Given the description of an element on the screen output the (x, y) to click on. 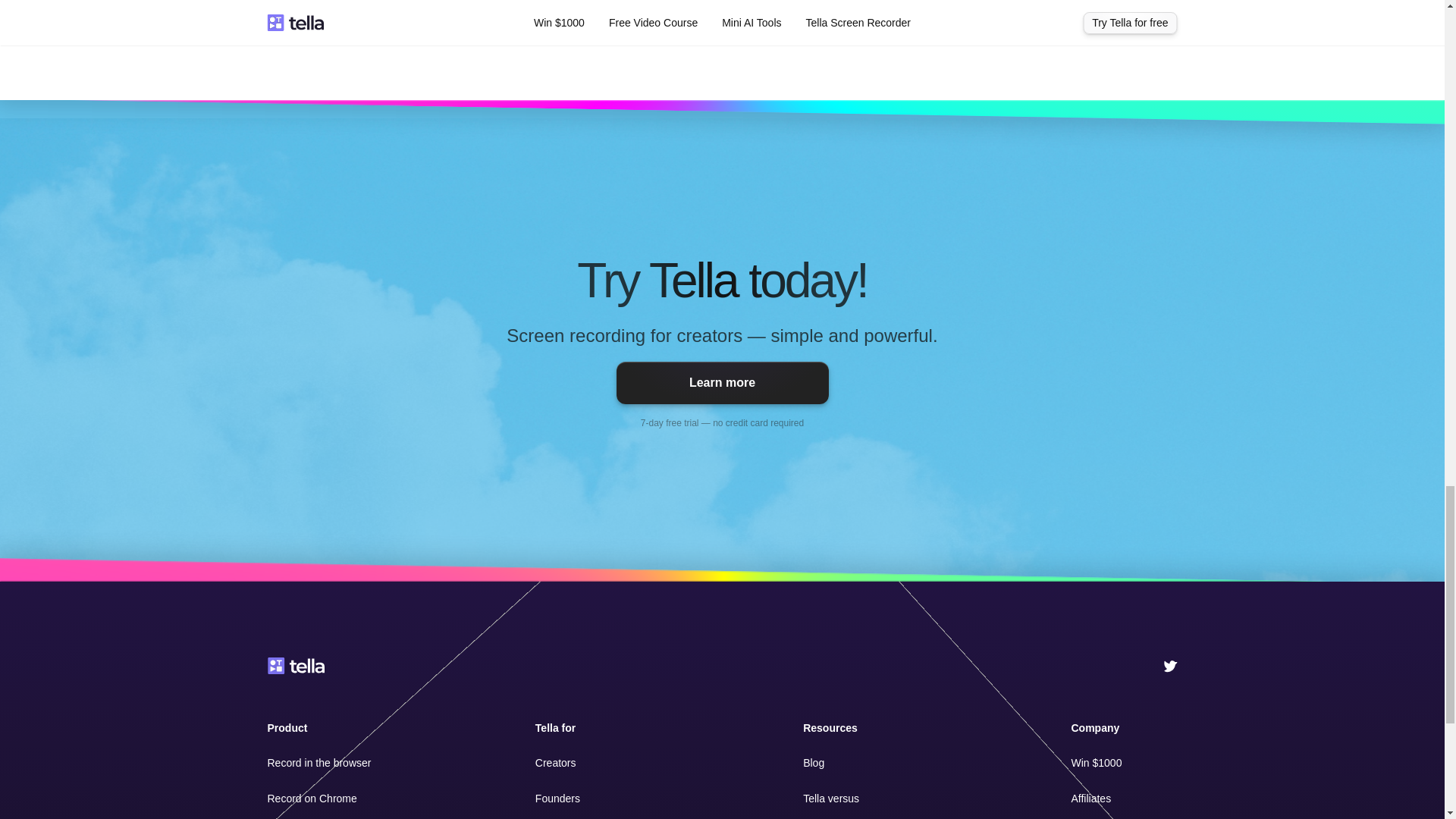
Resources (830, 727)
Creators (555, 762)
Learn more (721, 382)
Product (286, 727)
Record in the browser (318, 762)
Founders (557, 798)
Tella versu (828, 798)
Blog (813, 762)
Record on Chrome (311, 798)
Tella for (555, 727)
